Given the description of an element on the screen output the (x, y) to click on. 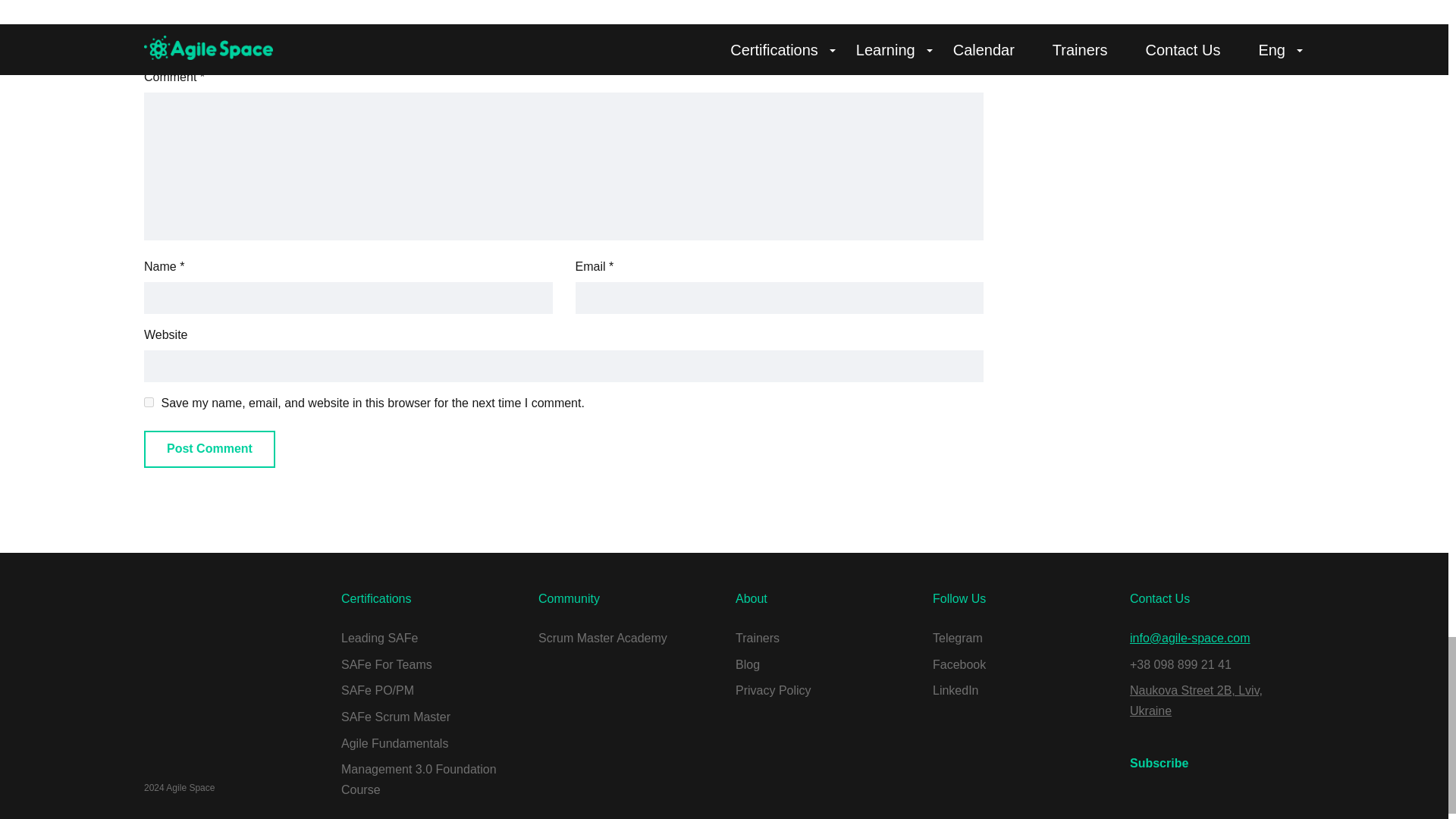
yes (149, 402)
